Given the description of an element on the screen output the (x, y) to click on. 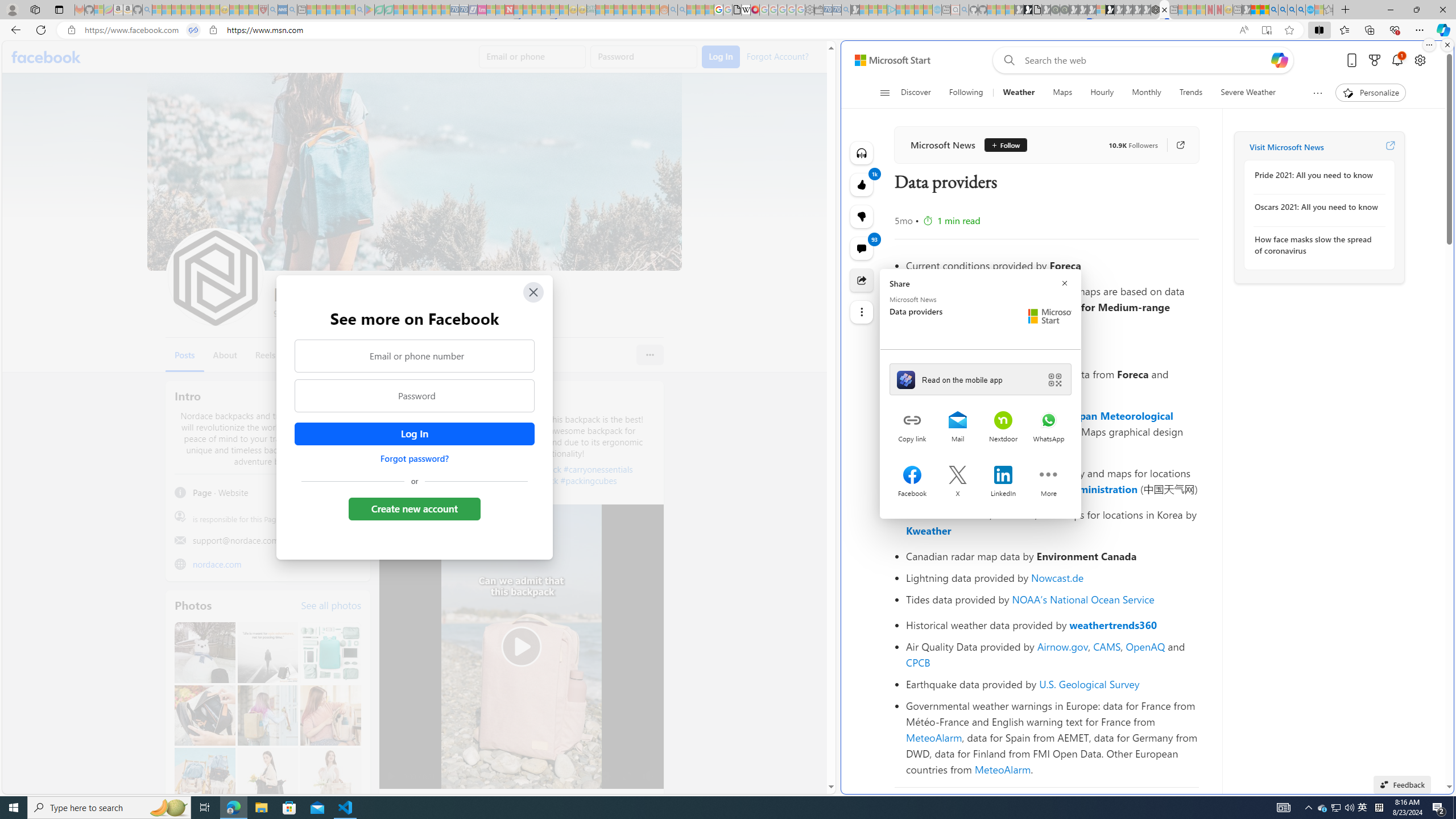
github - Search - Sleeping (964, 9)
Read on the mobile app (980, 379)
Maps (1062, 92)
Target page - Wikipedia (745, 9)
Lightning data provided by Nowcast.de (1051, 577)
